Given the description of an element on the screen output the (x, y) to click on. 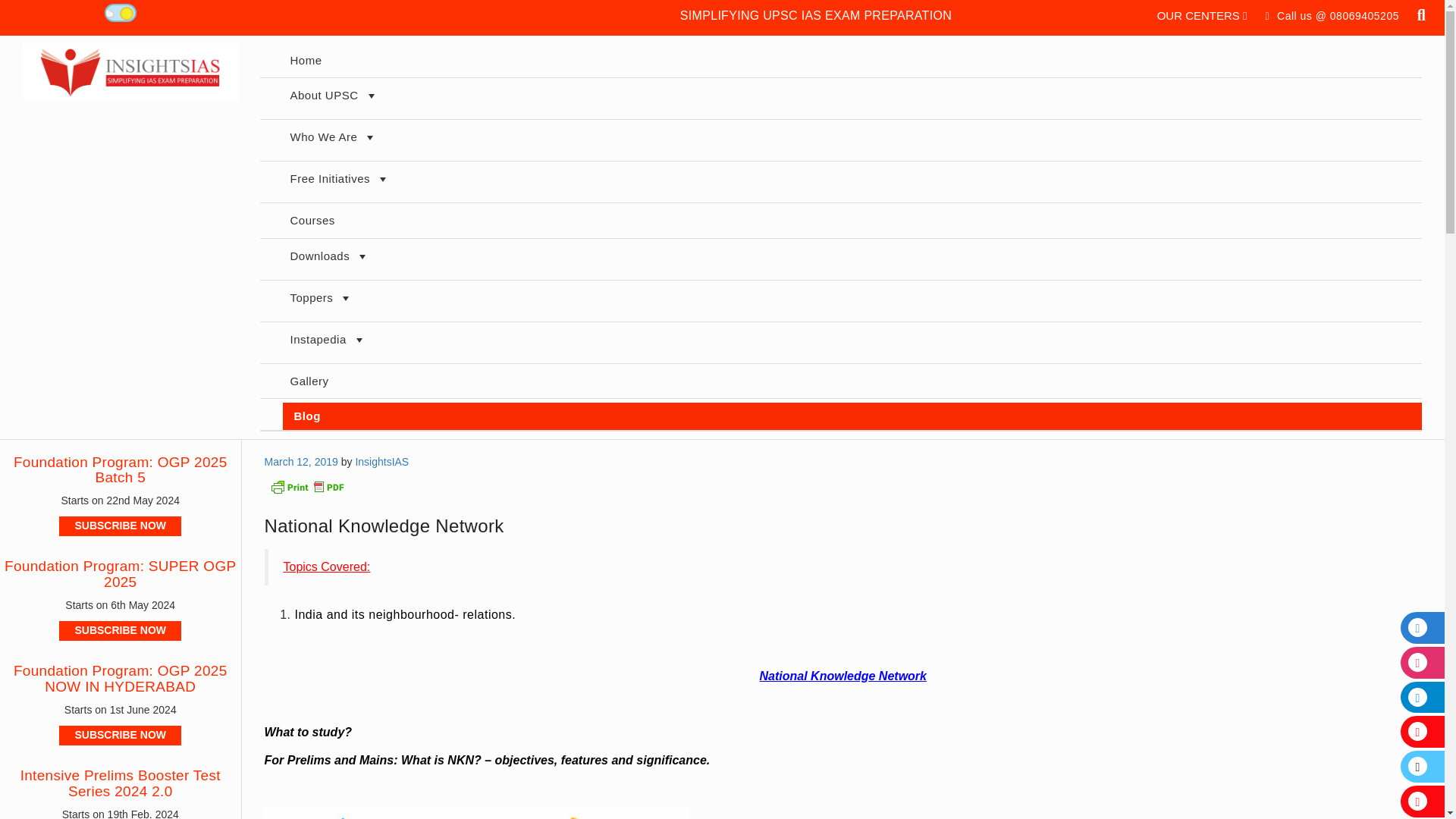
Who We Are (851, 139)
About UPSC (851, 97)
OUR CENTERS (1202, 15)
Home (851, 60)
08069405205 (1364, 15)
